Given the description of an element on the screen output the (x, y) to click on. 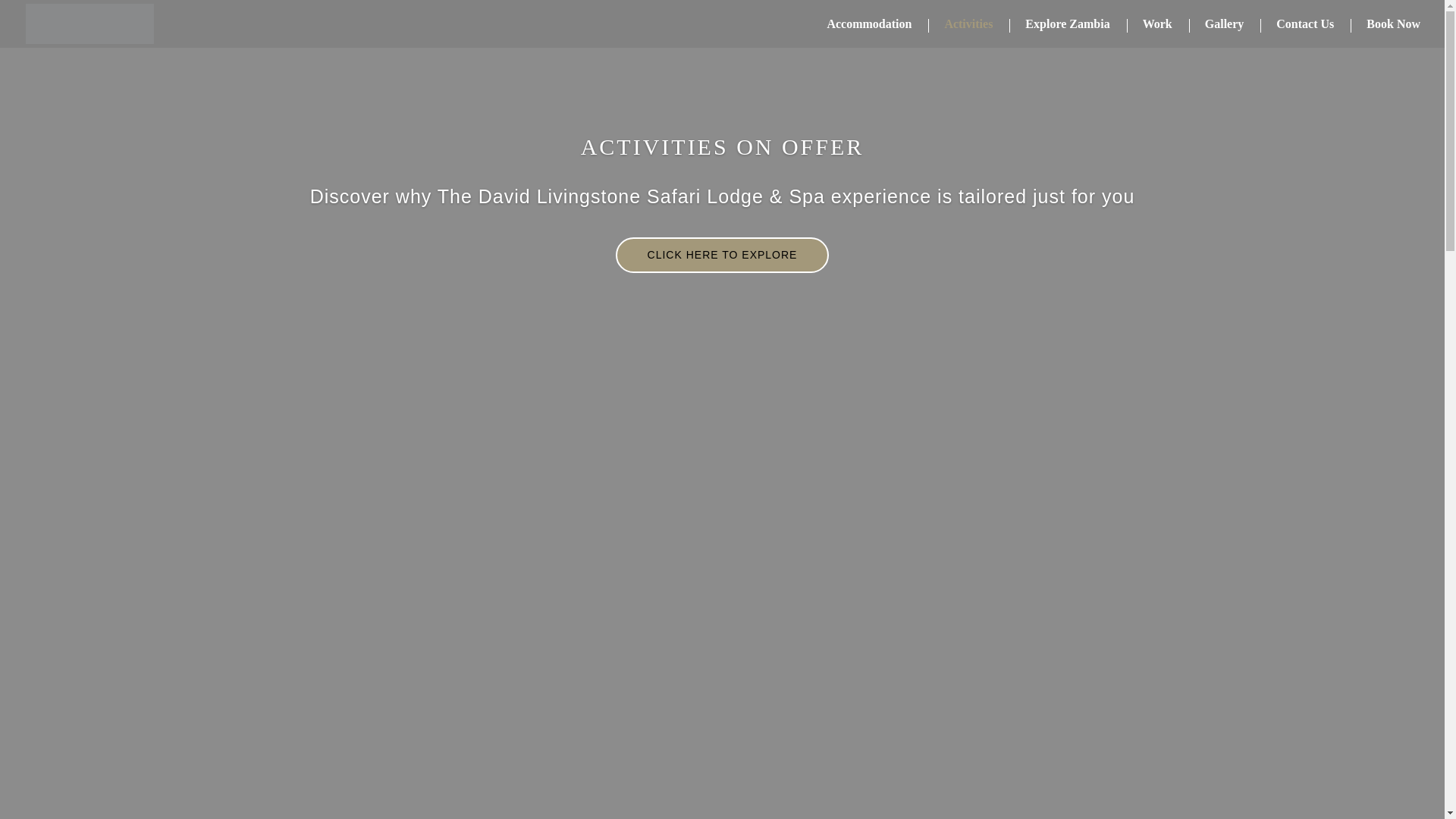
Book Now (1386, 25)
ACTIVITIES ON OFFER (695, 146)
Accommodation (860, 25)
Activities (960, 25)
Work (1149, 25)
Contact Us (1296, 25)
Gallery (1216, 25)
Explore Zambia (1059, 25)
